Given the description of an element on the screen output the (x, y) to click on. 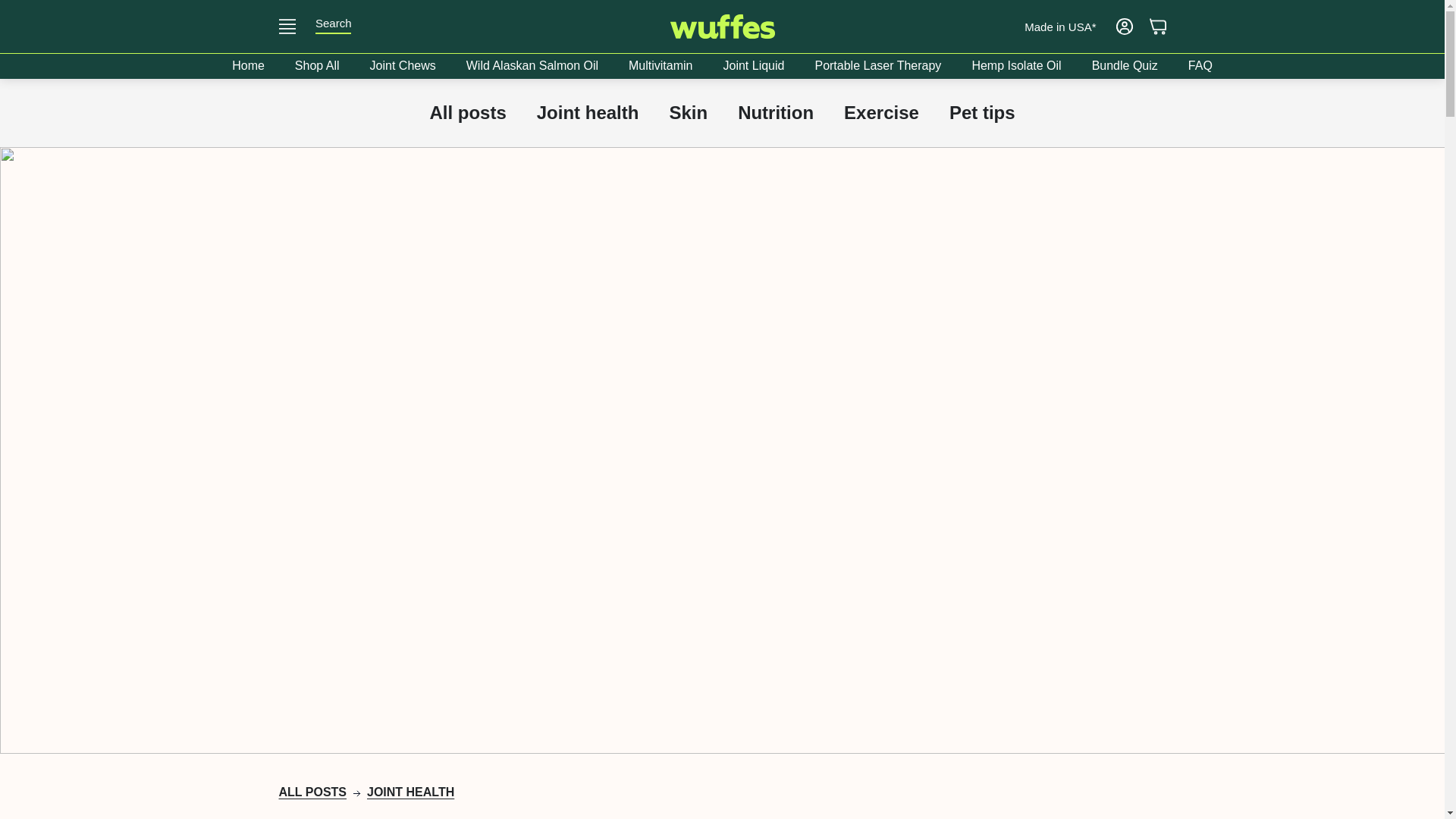
Joint Liquid (753, 66)
Show articles tagged exercise (881, 112)
Joint Chews (403, 66)
All posts (313, 791)
Portable Laser Therapy (877, 66)
Wild Alaskan Salmon Oil (531, 66)
Show articles tagged nutrition (775, 112)
Multivitamin (659, 66)
Search (333, 23)
Show articles tagged skin (687, 112)
